Given the description of an element on the screen output the (x, y) to click on. 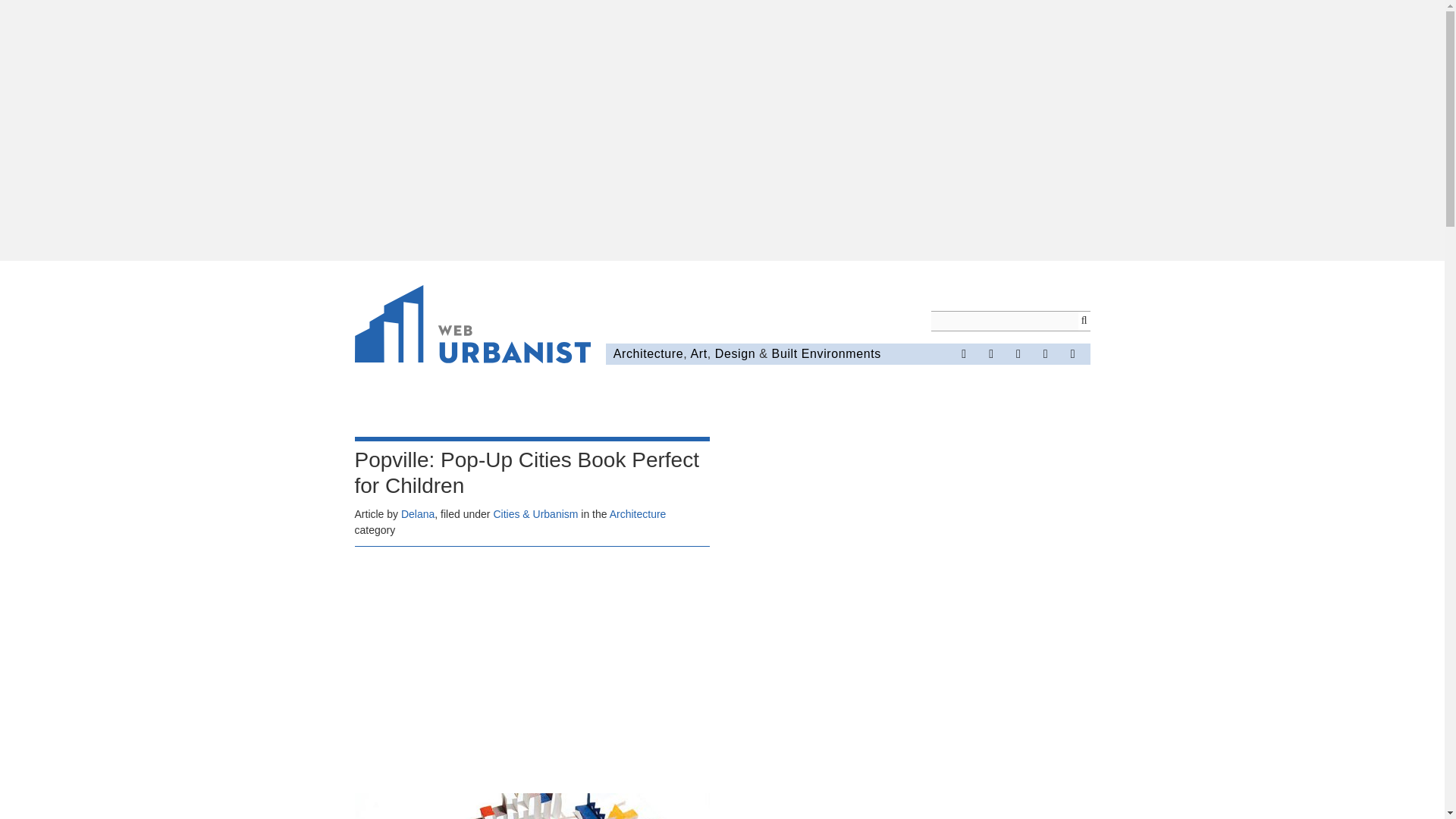
Design (734, 353)
Subscribe by Email (1072, 353)
Architecture (648, 353)
Built (784, 353)
Delana (417, 513)
popville book (532, 806)
Check Out Posts on Pinterest! (1018, 353)
WebUrbanist (473, 326)
Subscribe to the RSS Feed! (1045, 353)
Become a Fan on Facebook! (963, 353)
